Given the description of an element on the screen output the (x, y) to click on. 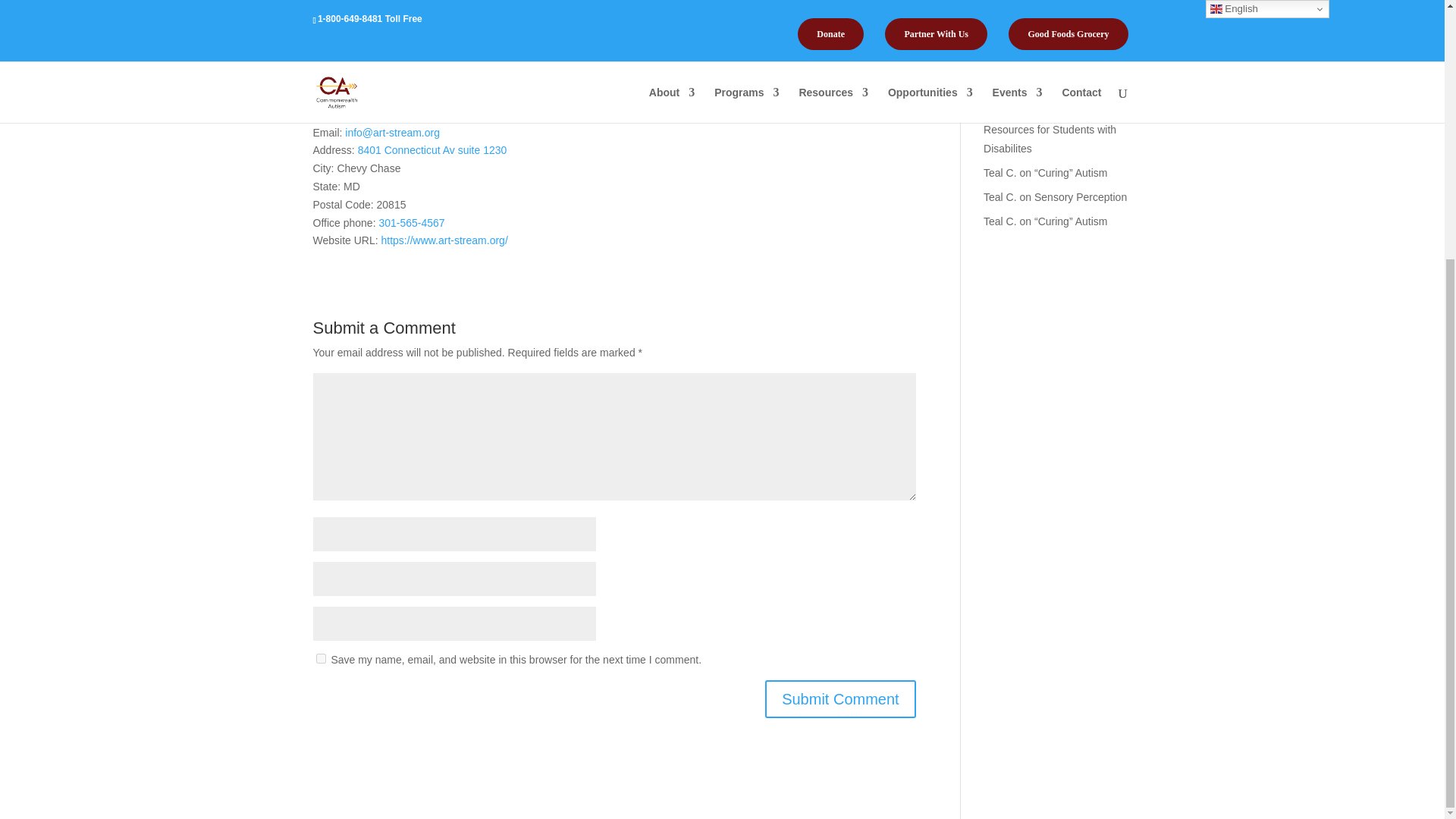
yes (319, 658)
Submit Comment (840, 699)
